Given the description of an element on the screen output the (x, y) to click on. 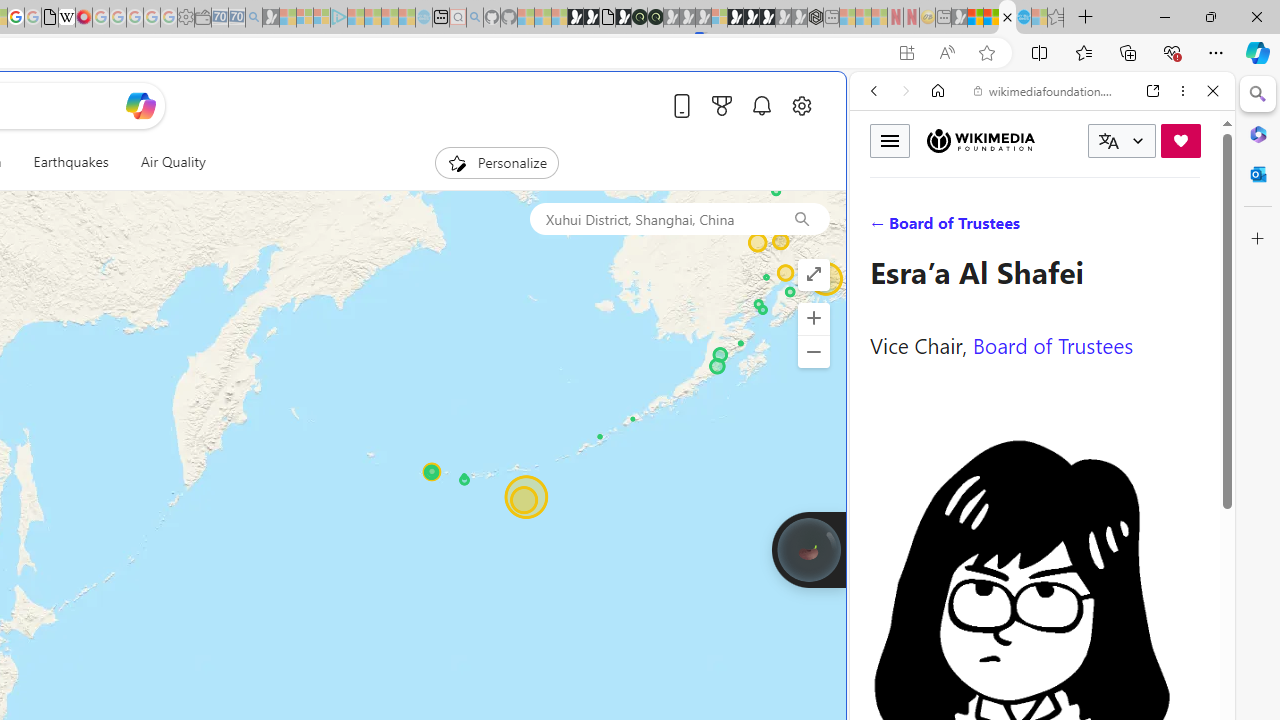
Home | Sky Blue Bikes - Sky Blue Bikes - Sleeping (424, 17)
Open settings (801, 105)
Search Filter, IMAGES (939, 228)
CURRENT LANGUAGE: (1121, 141)
Play Cave FRVR in your browser | Games from Microsoft Start (343, 426)
Settings - Sleeping (185, 17)
Cheap Car Rentals - Save70.com - Sleeping (236, 17)
Zoom in (813, 318)
Search the web (1051, 137)
Open Copilot (141, 105)
